Given the description of an element on the screen output the (x, y) to click on. 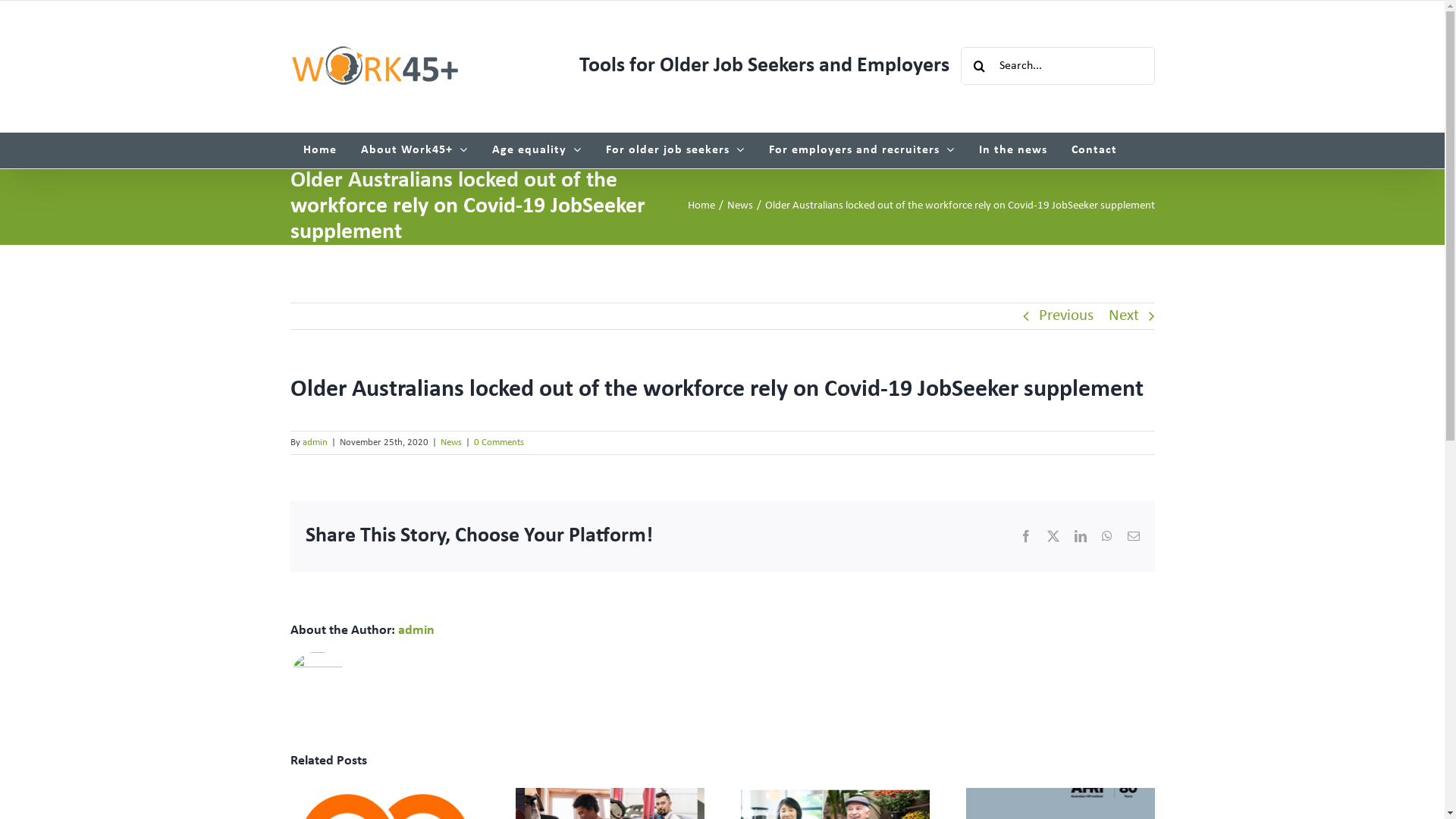
Facebook Element type: text (1025, 536)
Email Element type: text (1132, 536)
Home Element type: text (700, 205)
LinkedIn Element type: text (1079, 536)
For employers and recruiters Element type: text (861, 150)
admin Element type: text (313, 442)
About Work45+ Element type: text (413, 150)
Next Element type: text (1123, 316)
admin Element type: text (415, 630)
In the news Element type: text (1013, 150)
WhatsApp Element type: text (1106, 536)
For older job seekers Element type: text (674, 150)
Home Element type: text (319, 150)
News Element type: text (450, 442)
Contact Element type: text (1094, 150)
Age equality Element type: text (536, 150)
News Element type: text (739, 205)
Previous Element type: text (1065, 316)
Twitter Element type: text (1052, 536)
0 Comments Element type: text (498, 442)
